Given the description of an element on the screen output the (x, y) to click on. 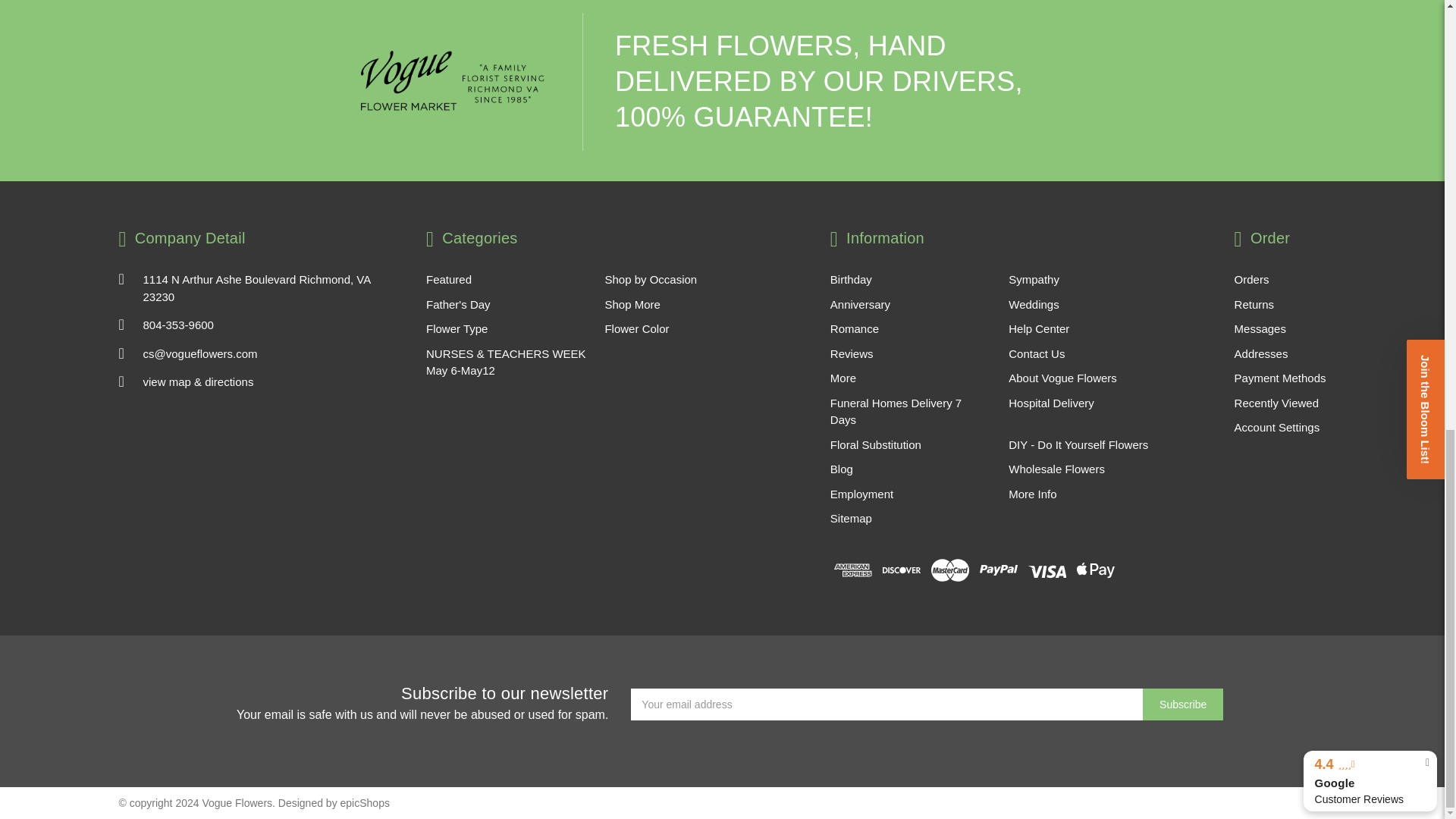
Subscribe (1182, 704)
